Given the description of an element on the screen output the (x, y) to click on. 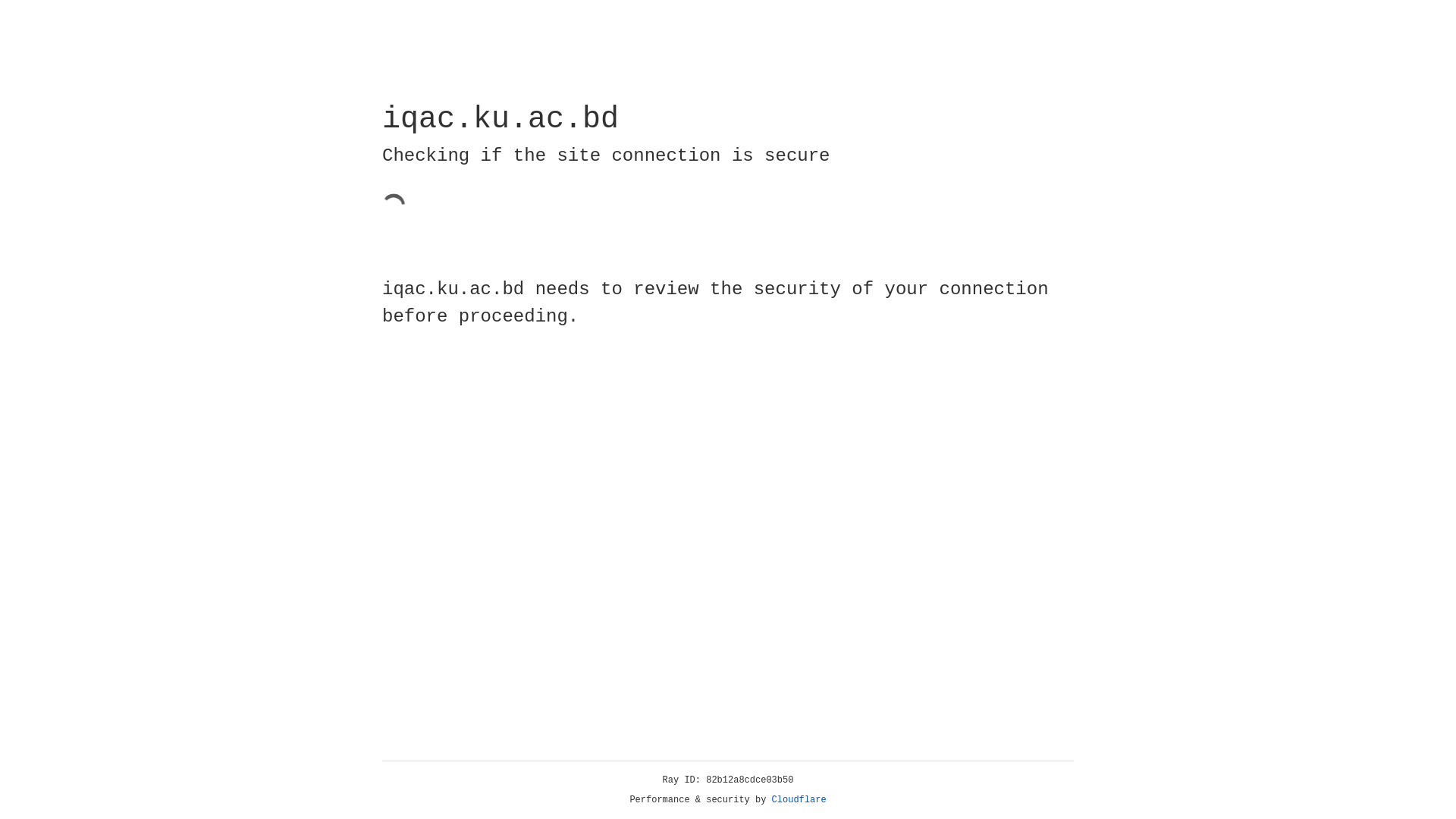
Cloudflare Element type: text (798, 799)
